Given the description of an element on the screen output the (x, y) to click on. 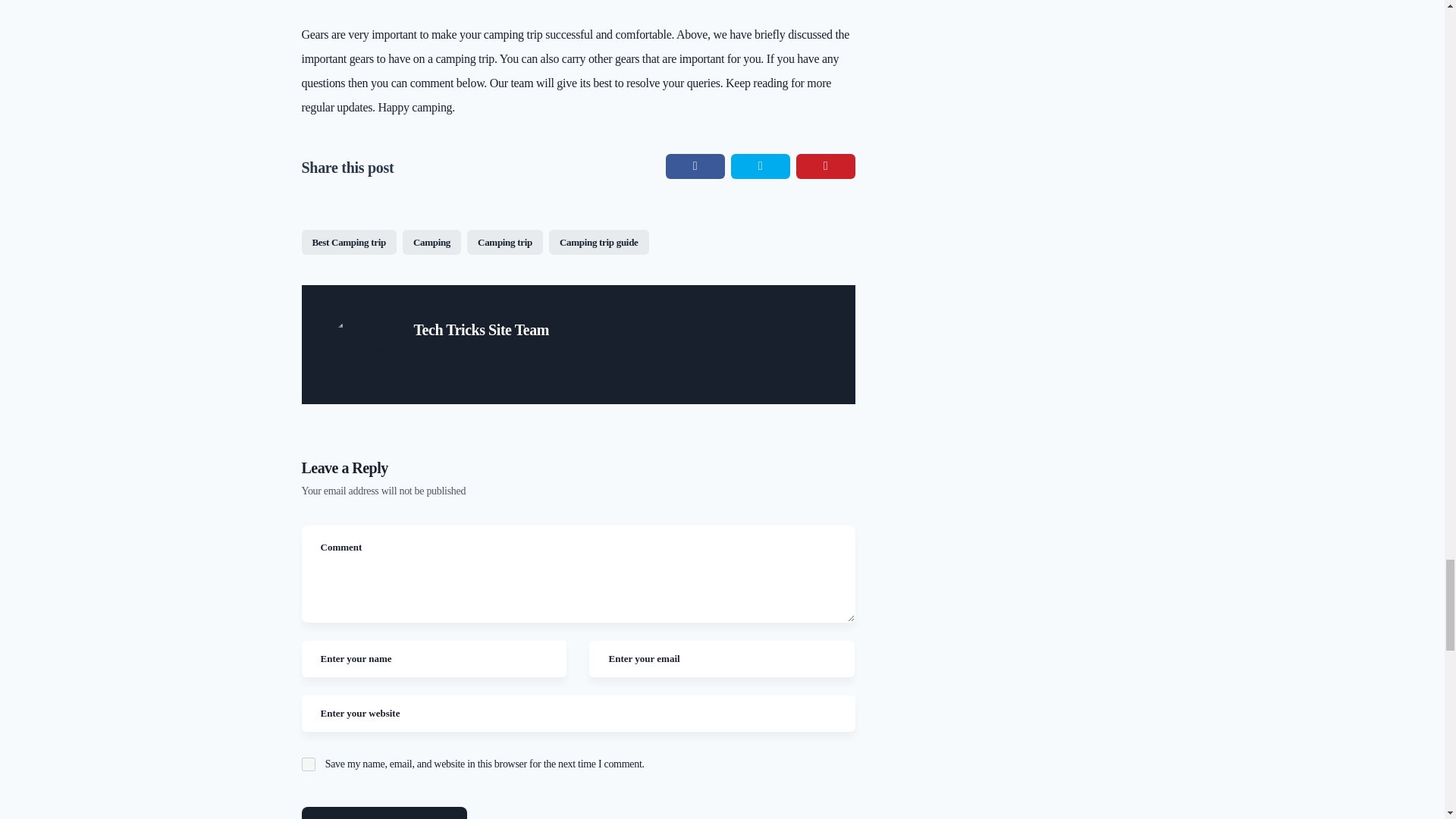
Best Camping trip (348, 241)
Post Comment (384, 812)
yes (308, 763)
Gravatar for Tech Tricks Site Team (360, 345)
Camping trip (505, 241)
Camping trip guide (598, 241)
Camping (432, 241)
Tech Tricks Site Team (480, 329)
Post Comment (384, 812)
